Given the description of an element on the screen output the (x, y) to click on. 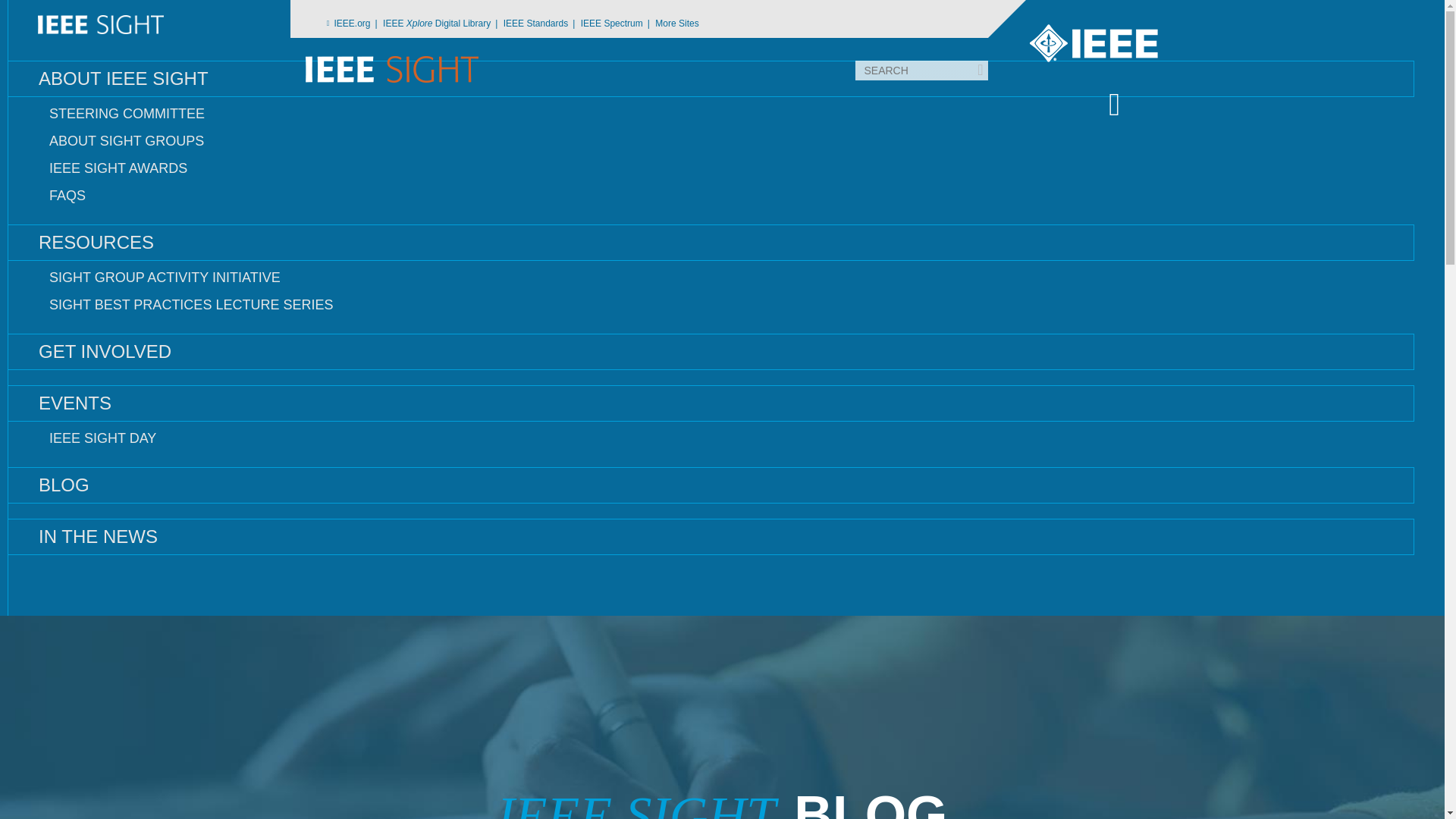
BLOG (710, 484)
ABOUT IEEE SIGHT (710, 78)
IEEE Xplore Digital Library (440, 25)
FAQS (710, 195)
IEEE Spectrum (616, 25)
HOME (710, 24)
SIGHT GROUP ACTIVITY INITIATIVE (710, 277)
GET INVOLVED (710, 351)
IEEE SIGHT DAY (710, 438)
RESOURCES (710, 242)
